Given the description of an element on the screen output the (x, y) to click on. 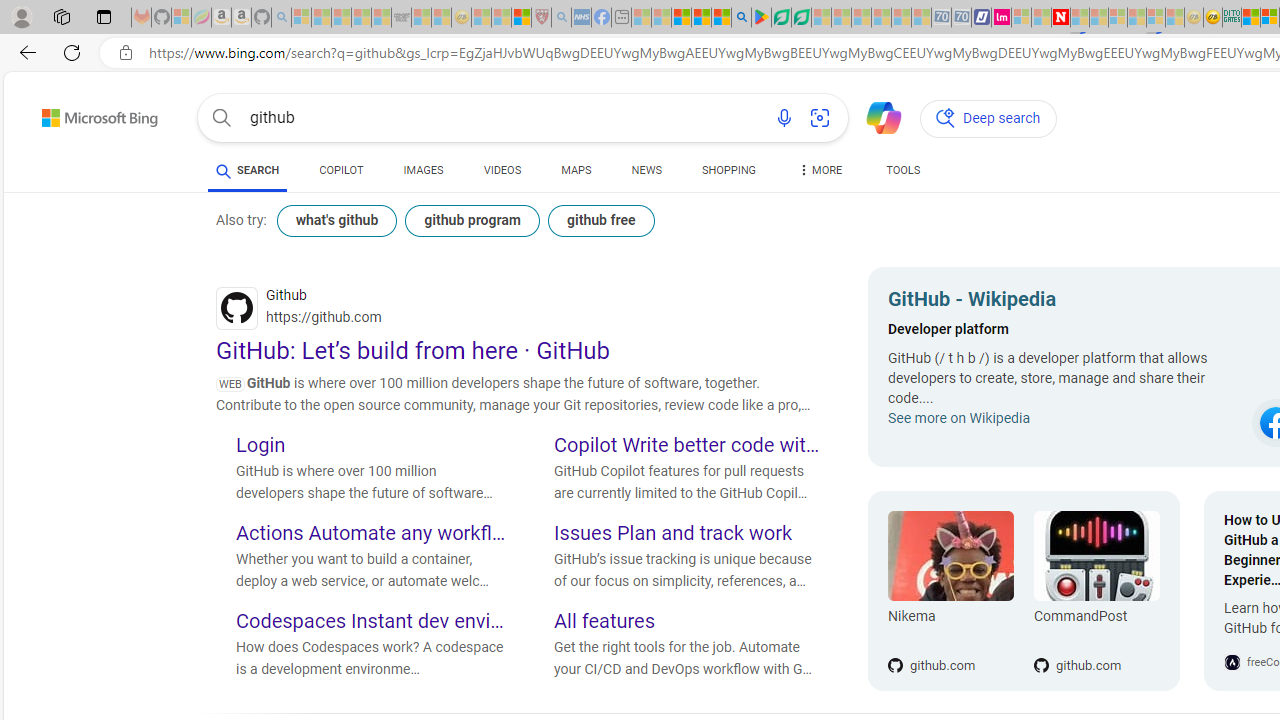
github program (471, 220)
Microsoft Word - consumer-privacy address update 2.2021 (801, 17)
Terms of Use Agreement (781, 17)
github free (600, 220)
Bluey: Let's Play! - Apps on Google Play (760, 17)
